Given the description of an element on the screen output the (x, y) to click on. 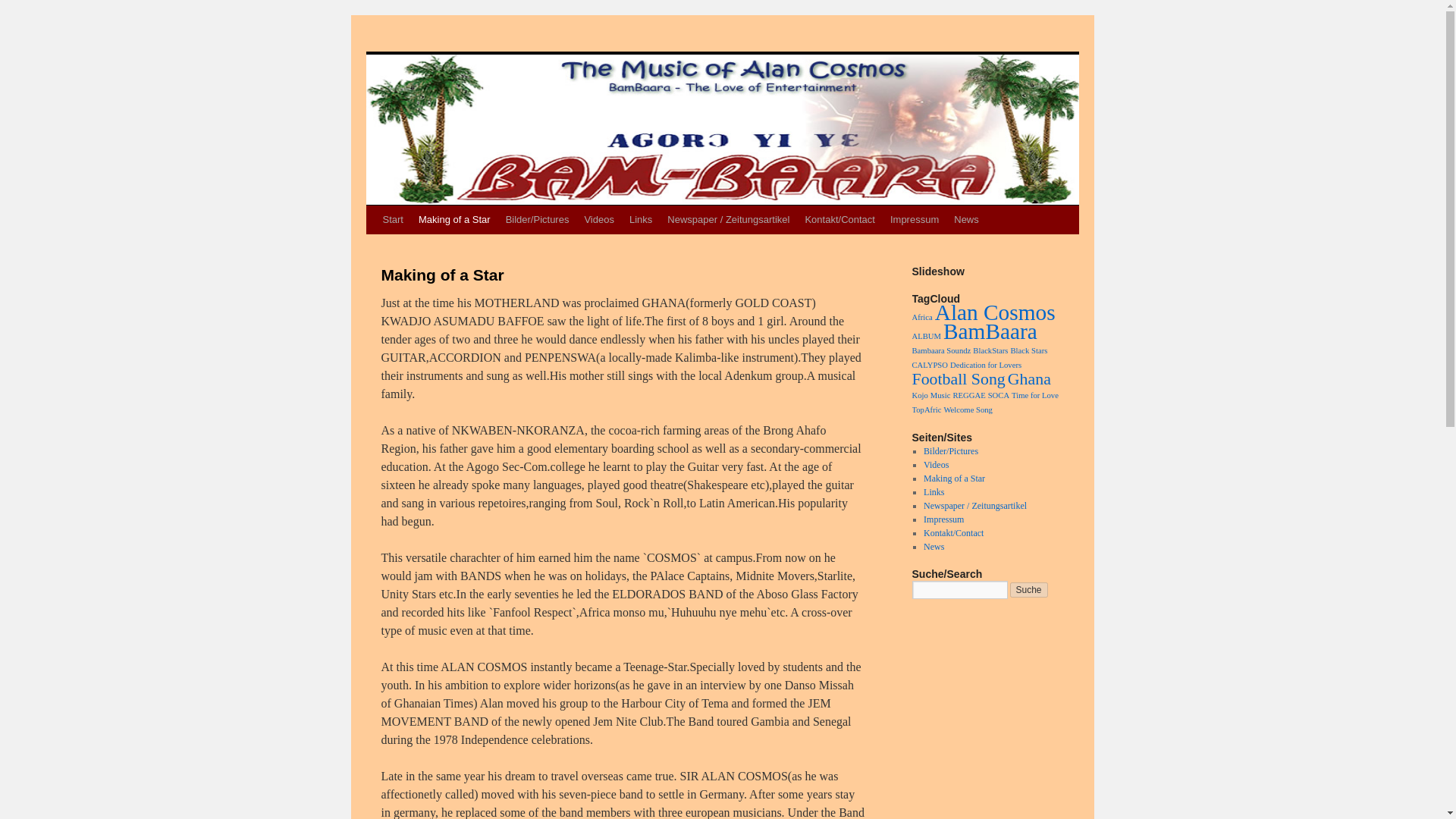
REGGAE (968, 395)
ALBUM (925, 336)
Music (940, 395)
CALYPSO (929, 365)
Start (392, 219)
Africa (921, 316)
Dedication for Lovers (986, 365)
BamBaara (989, 331)
Suche (1029, 589)
Ghana (1029, 379)
Kojo (919, 395)
Black Stars (1028, 350)
News (966, 219)
Impressum (914, 219)
Making of a Star (954, 478)
